Given the description of an element on the screen output the (x, y) to click on. 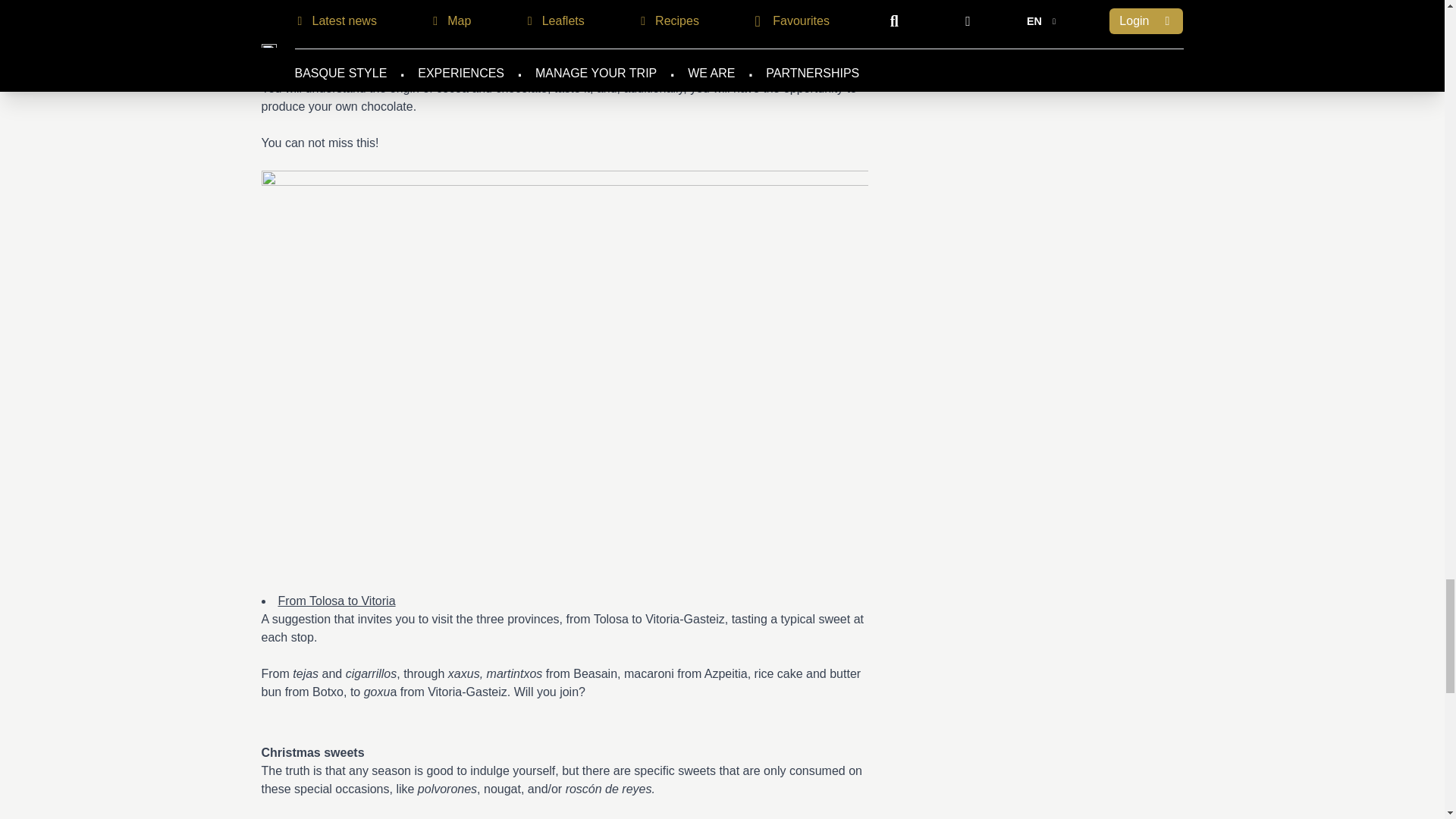
Chocolate workshop (332, 15)
